Given the description of an element on the screen output the (x, y) to click on. 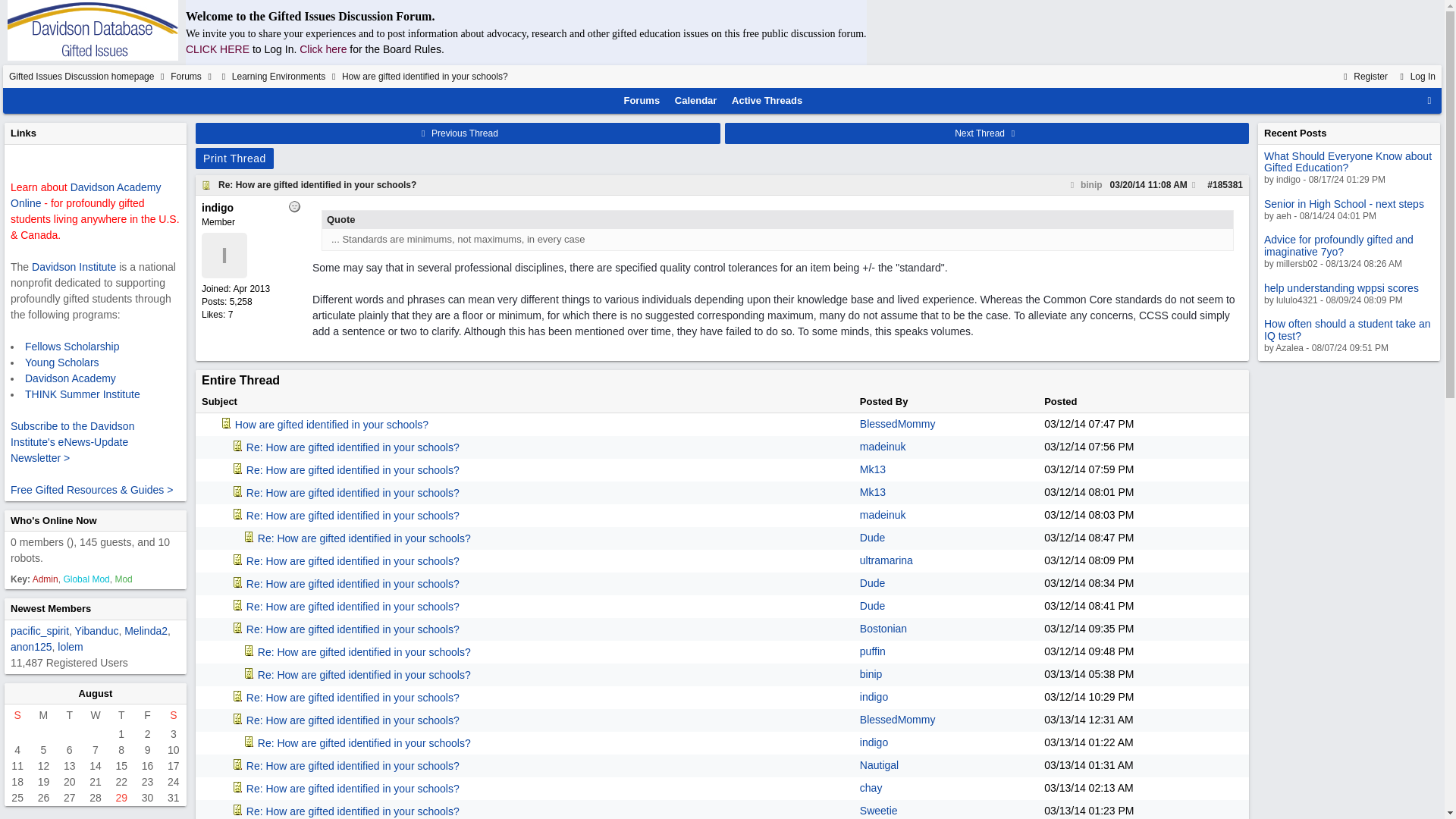
Click here (322, 49)
Who's Online Now (53, 519)
CLICK HERE (217, 49)
Melinda2 (145, 630)
Gifted Issues Discussion homepage (81, 76)
lolem (70, 645)
August (95, 692)
Fellows Scholarship (71, 345)
Davidson Academy (70, 377)
THINK Summer Institute (81, 394)
